Given the description of an element on the screen output the (x, y) to click on. 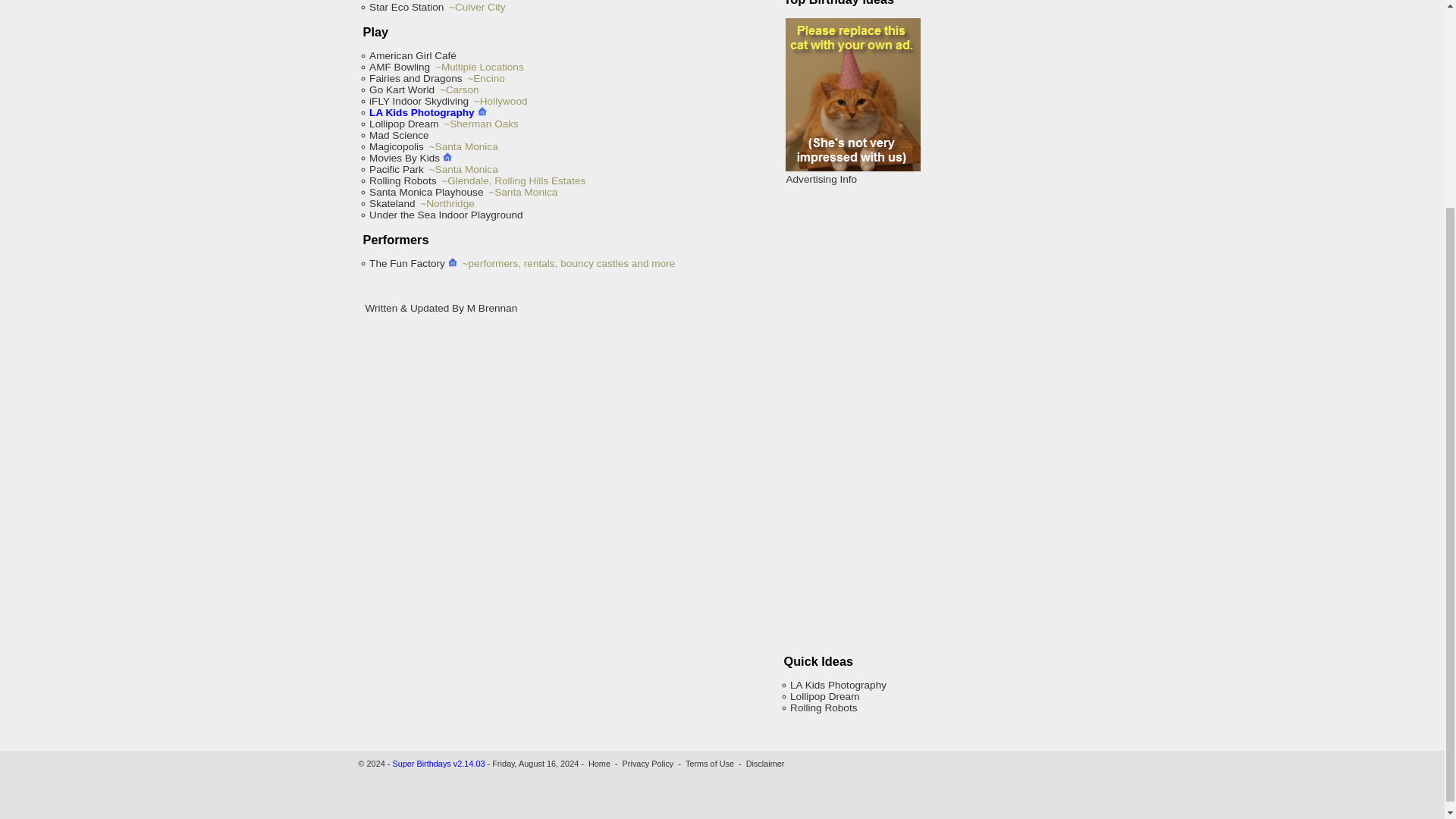
Elvenstar (390, 0)
Rolling Robots (402, 180)
Skateland (391, 203)
iFLY Indoor Skydiving (418, 101)
Magicopolis (396, 146)
LA Kids Photography (837, 685)
Terms of Use (709, 763)
Home (599, 763)
Movies By Kids (410, 157)
Star Eco Station (405, 7)
